Given the description of an element on the screen output the (x, y) to click on. 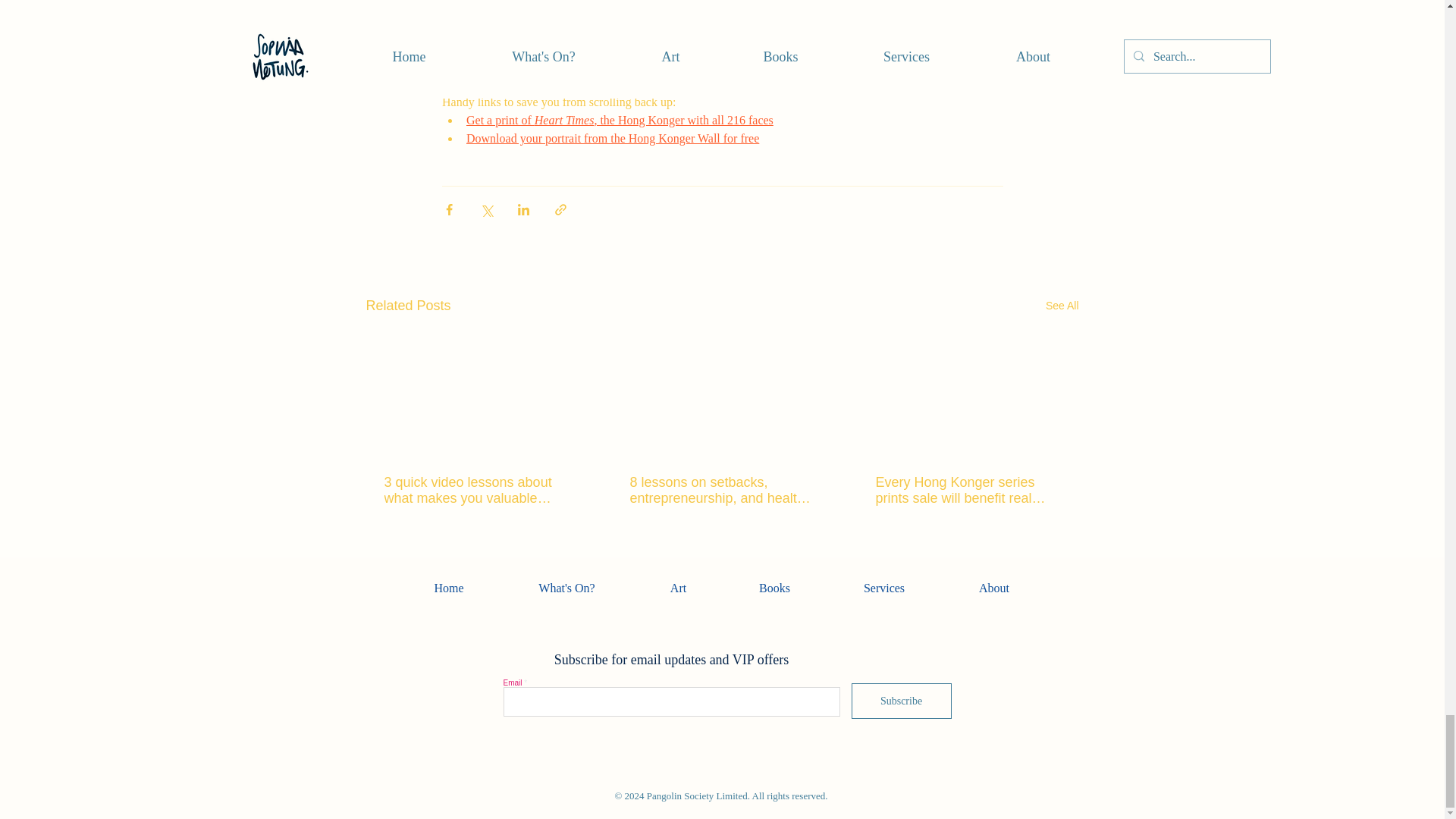
Heart Times (564, 119)
, the Hong Konger with all 216 faces (683, 119)
See All (1061, 305)
Get a print of  (499, 119)
Download your portrait from the Hong Konger Wall for free (611, 137)
